Given the description of an element on the screen output the (x, y) to click on. 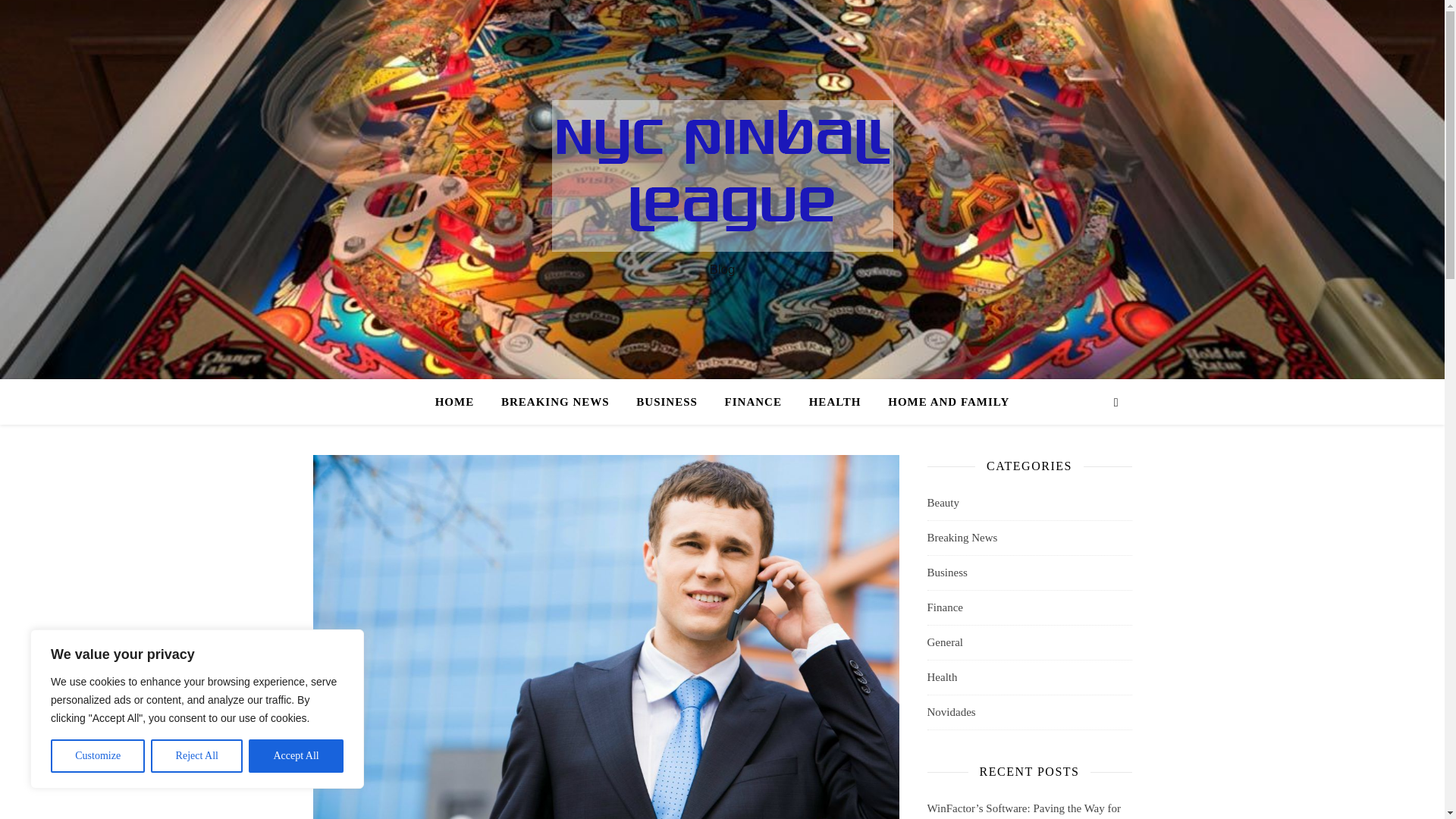
NYC Pinball League (721, 175)
FINANCE (753, 402)
Reject All (197, 756)
HOME AND FAMILY (942, 402)
Accept All (295, 756)
HOME (460, 402)
Customize (97, 756)
BUSINESS (667, 402)
BREAKING NEWS (555, 402)
Breaking News (961, 537)
